Given the description of an element on the screen output the (x, y) to click on. 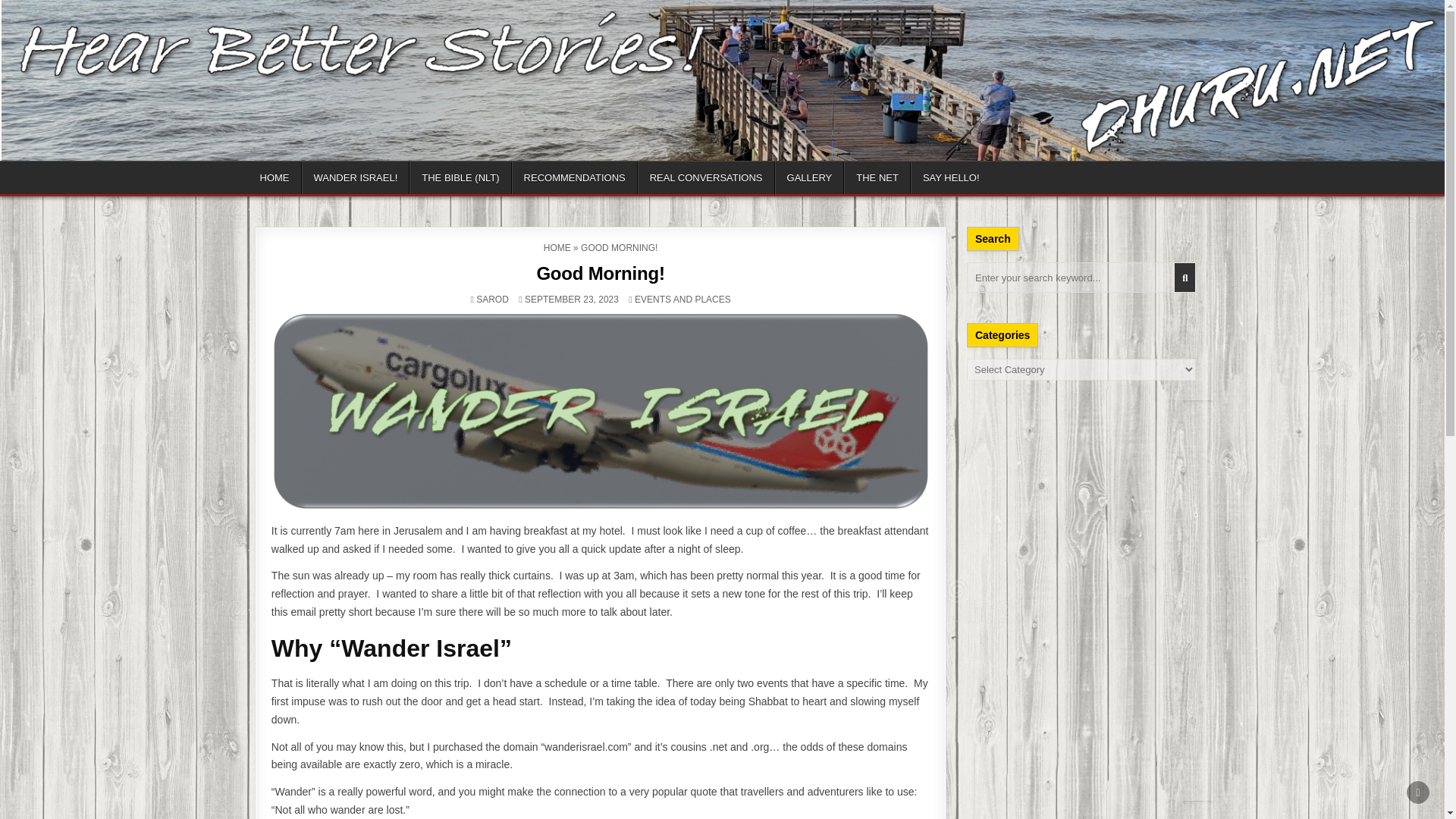
Scroll to Top (1417, 792)
WANDER ISRAEL! (355, 177)
SCROLL TO TOP (1417, 792)
HOME (274, 177)
EVENTS AND PLACES (682, 299)
SCROLL TO TOP (1417, 792)
SAY HELLO! (951, 177)
SAROD (492, 298)
RECOMMENDATIONS (574, 177)
REAL CONVERSATIONS (705, 177)
Good Morning! (599, 272)
THE NET (877, 177)
HOME (556, 247)
GALLERY (809, 177)
